Given the description of an element on the screen output the (x, y) to click on. 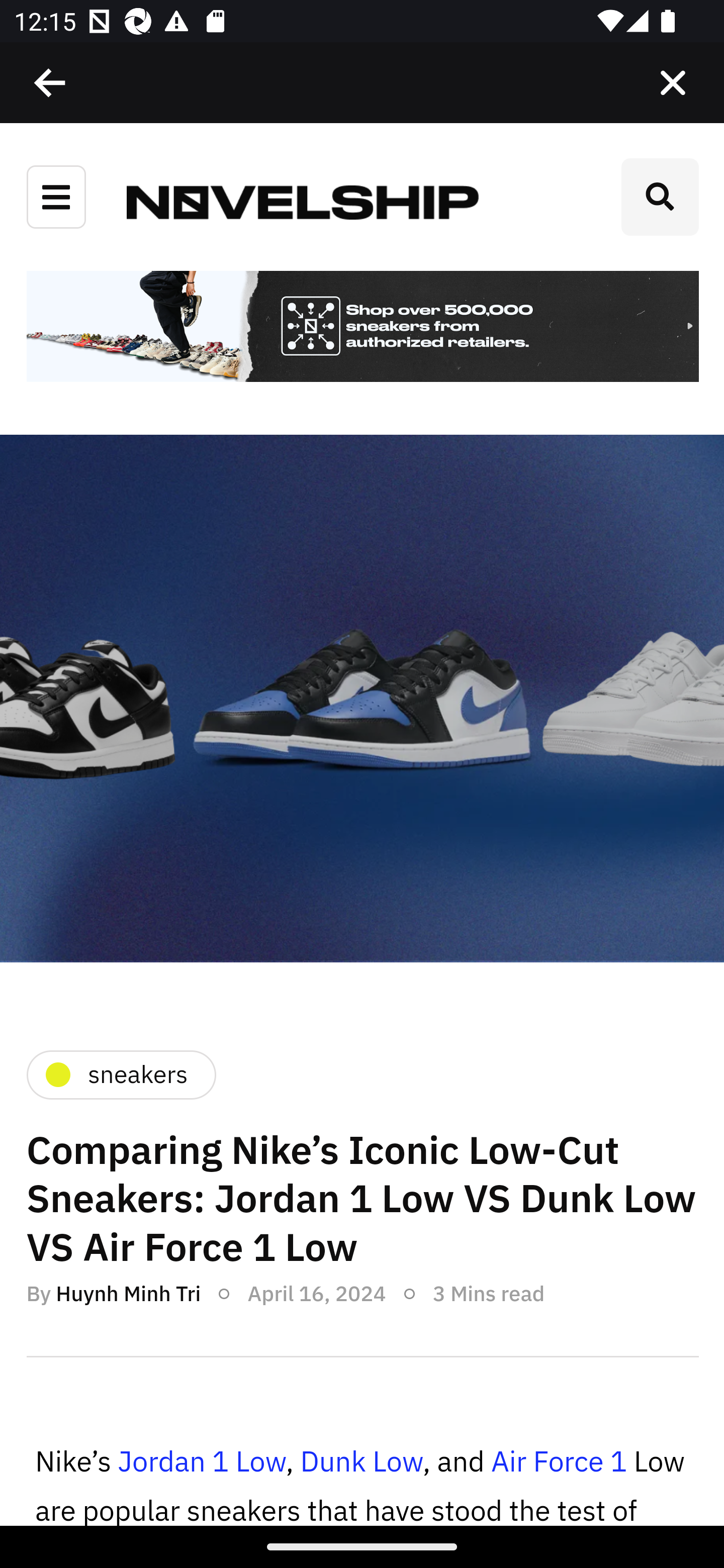
 (50, 83)
 (672, 83)
Search toggle (659, 196)
Novelship News (303, 201)
sneakers?utm_source=blog&utm_medium=banner (362, 327)
sneakers (120, 1074)
Huynh Minh Tri (127, 1293)
Jordan 1 Low (200, 1461)
Dunk Low (361, 1461)
Air Force 1 (558, 1461)
